Given the description of an element on the screen output the (x, y) to click on. 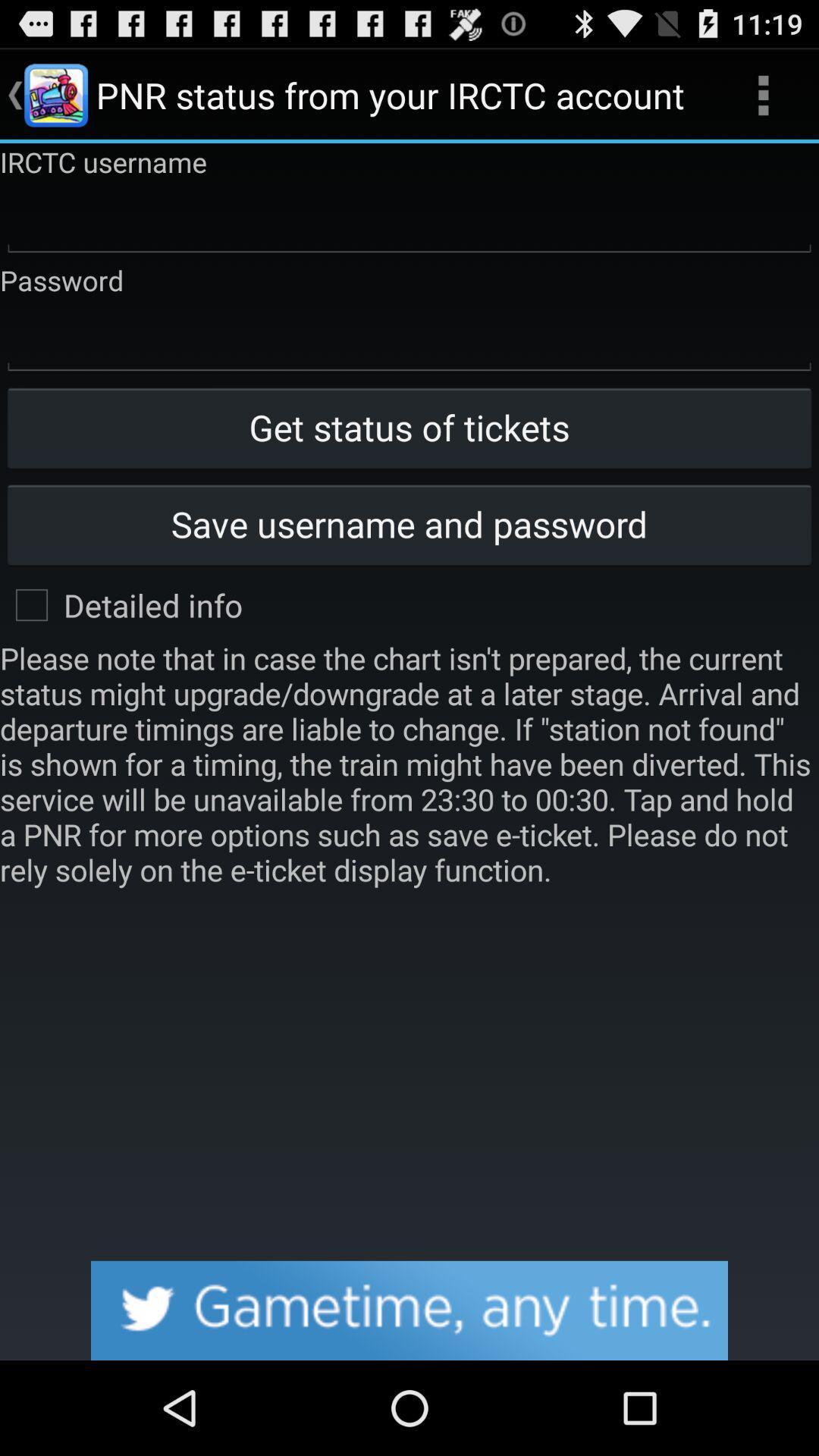
click advertisements (409, 1310)
